Given the description of an element on the screen output the (x, y) to click on. 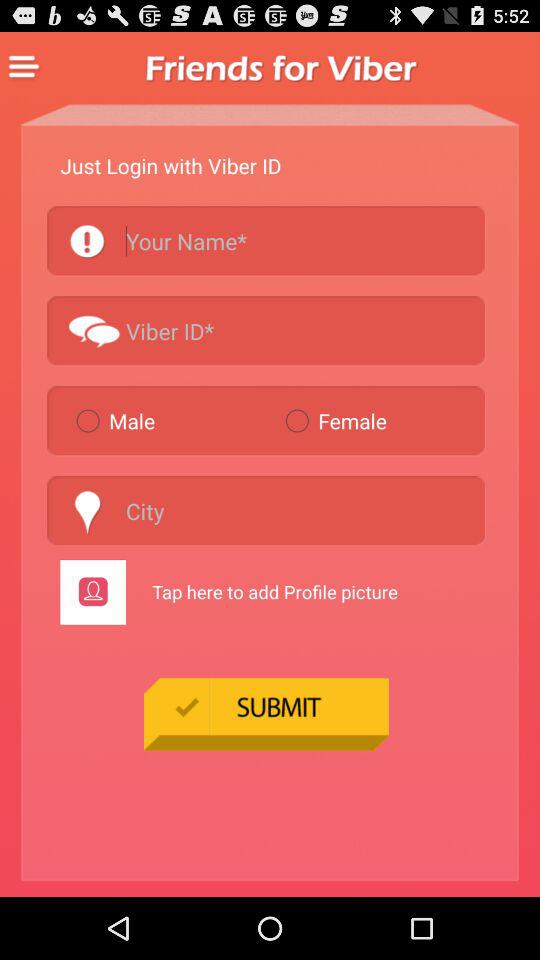
go to menu (24, 67)
